Given the description of an element on the screen output the (x, y) to click on. 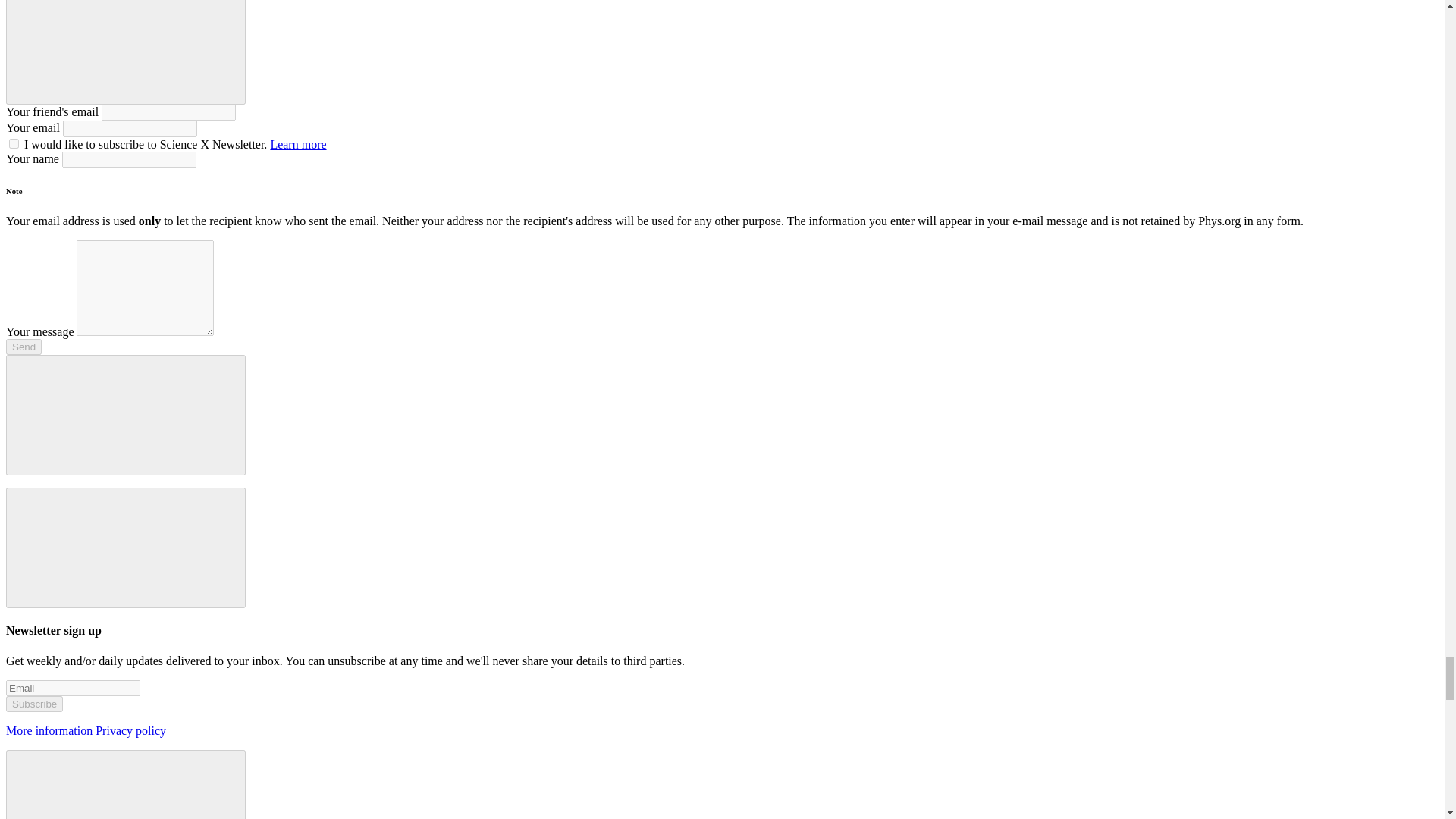
1 (13, 143)
